Given the description of an element on the screen output the (x, y) to click on. 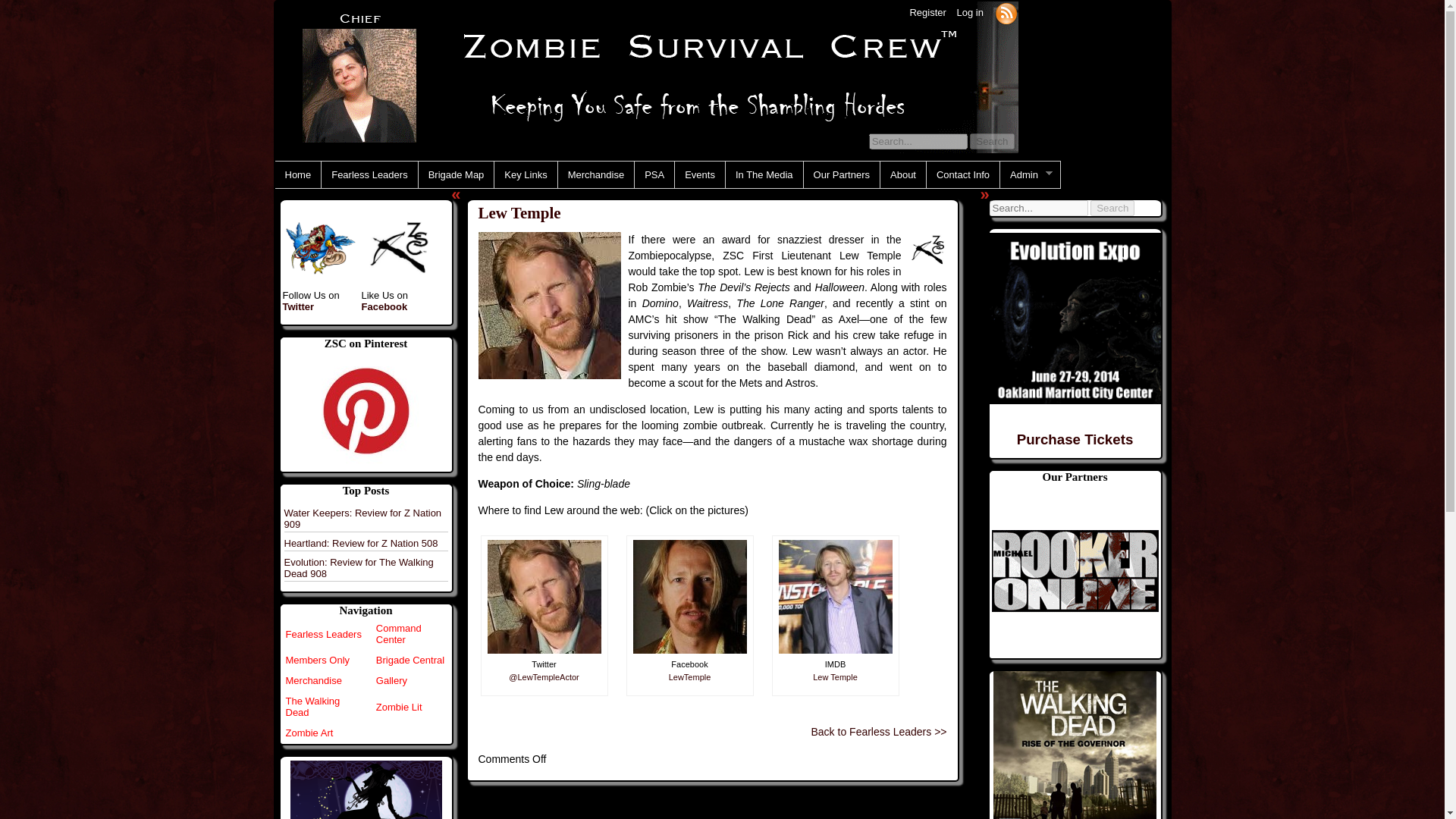
PSA (654, 174)
Register (926, 12)
Zombie Art (309, 732)
Heartland: Review for Z Nation 508 (360, 542)
Search (991, 141)
Events (700, 174)
Zombie Lit (398, 706)
Brigade Central (409, 659)
Search (991, 141)
Fearless Leaders (368, 174)
Gallery (391, 680)
Partners (1074, 569)
The Walking Dead (312, 706)
Log in (969, 12)
Permalink to: Lew Temple (700, 212)
